Given the description of an element on the screen output the (x, y) to click on. 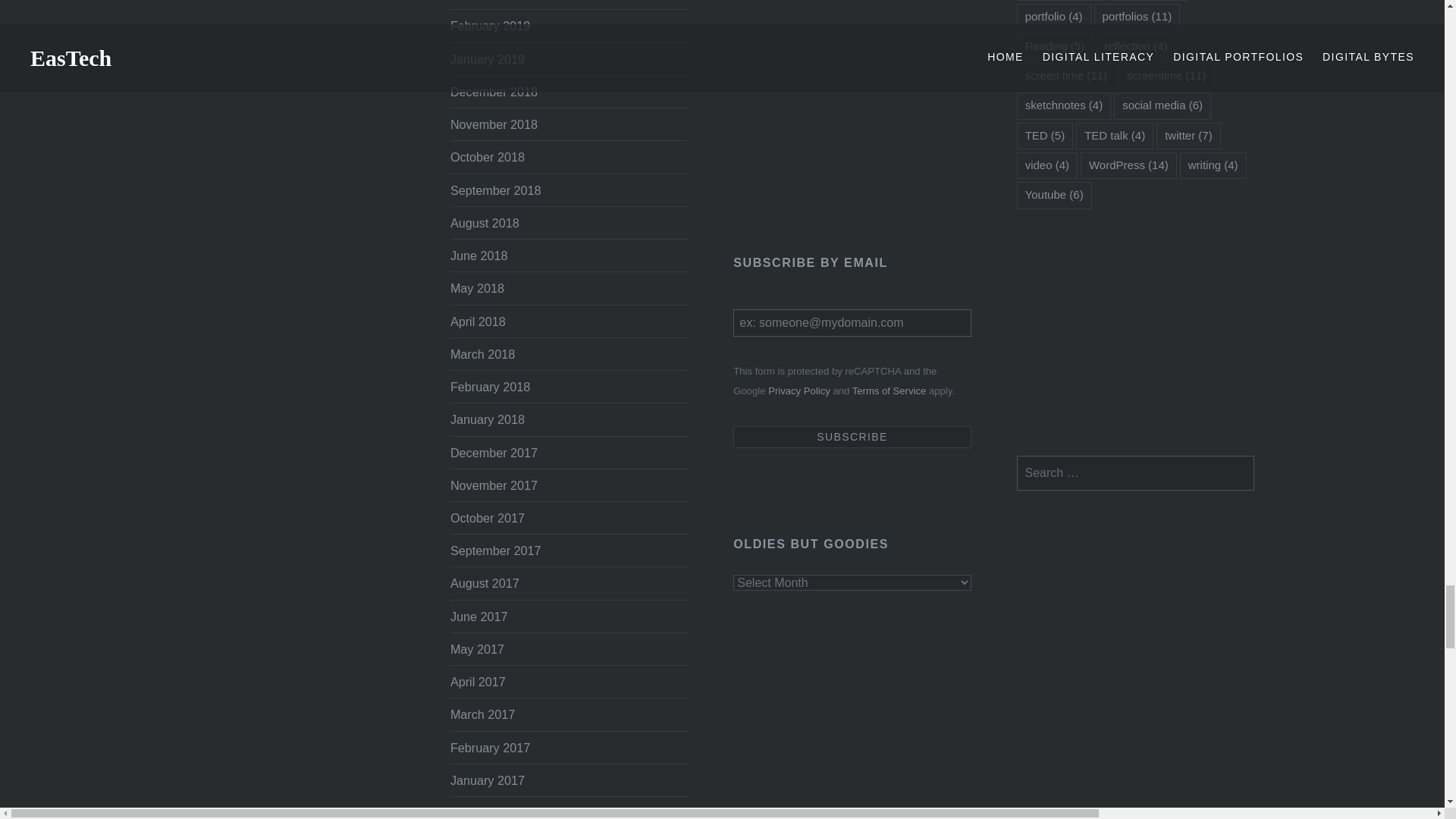
Subscribe (852, 436)
